Given the description of an element on the screen output the (x, y) to click on. 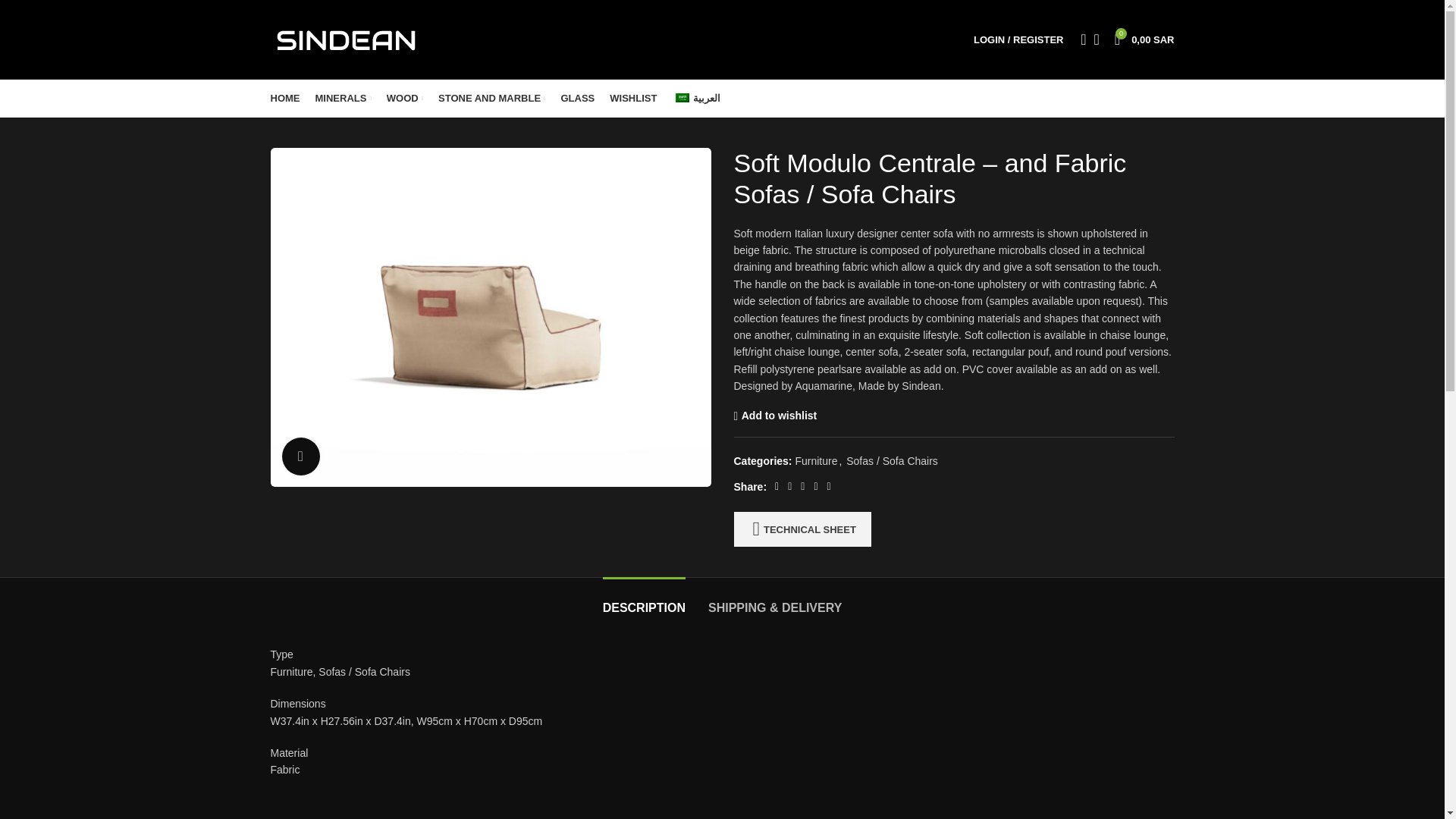
WOOD (405, 98)
HOME (284, 98)
My account (1144, 39)
MINERALS (1018, 39)
Log in (343, 98)
Shopping cart (938, 280)
